Given the description of an element on the screen output the (x, y) to click on. 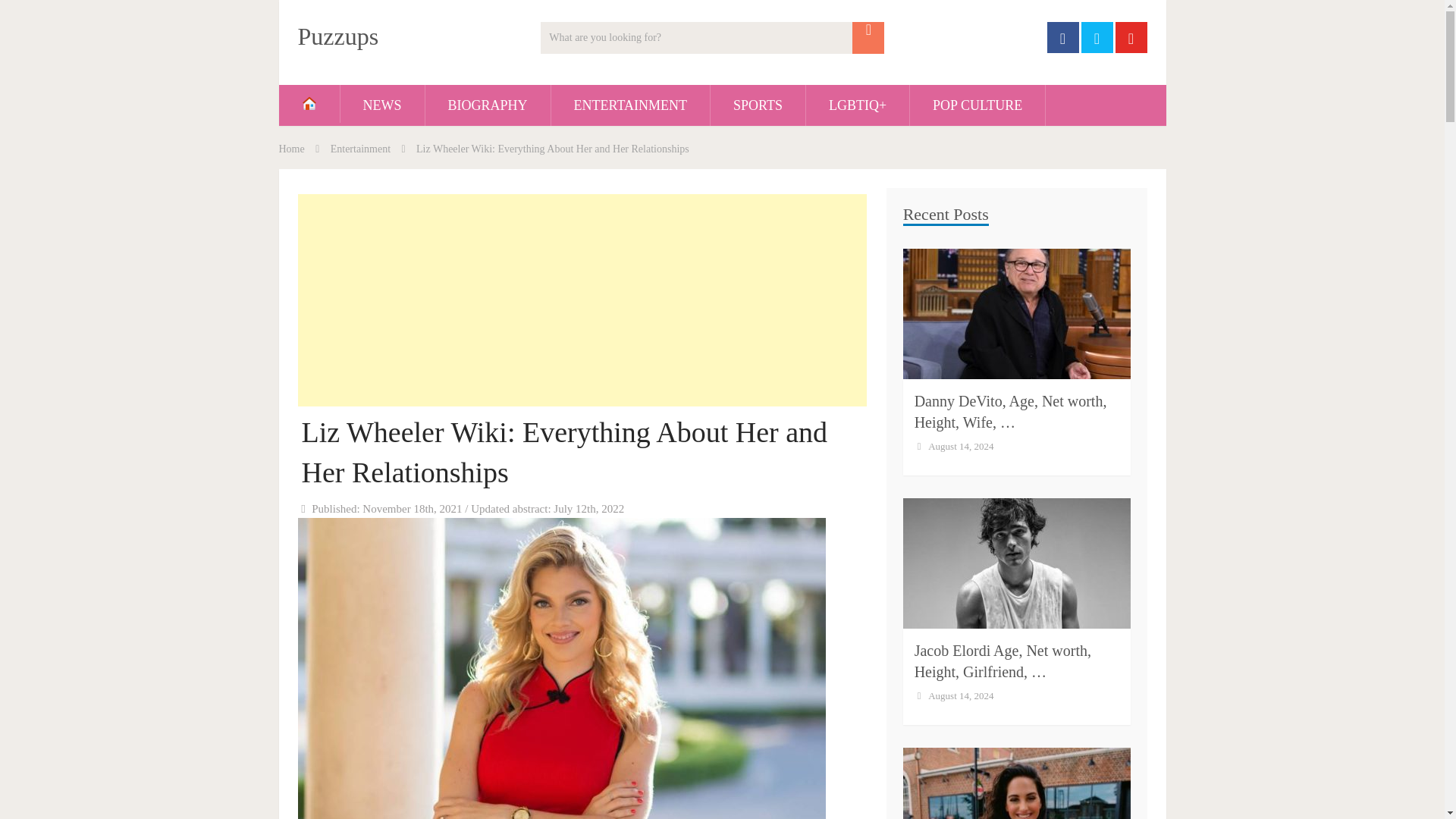
POP CULTURE (977, 105)
What are you looking for? (711, 38)
ENTERTAINMENT (630, 105)
Advertisement (581, 300)
NEWS (381, 105)
BIOGRAPHY (487, 105)
Entertainment (360, 148)
Home (291, 148)
Puzzups (337, 36)
SPORTS (757, 105)
